Given the description of an element on the screen output the (x, y) to click on. 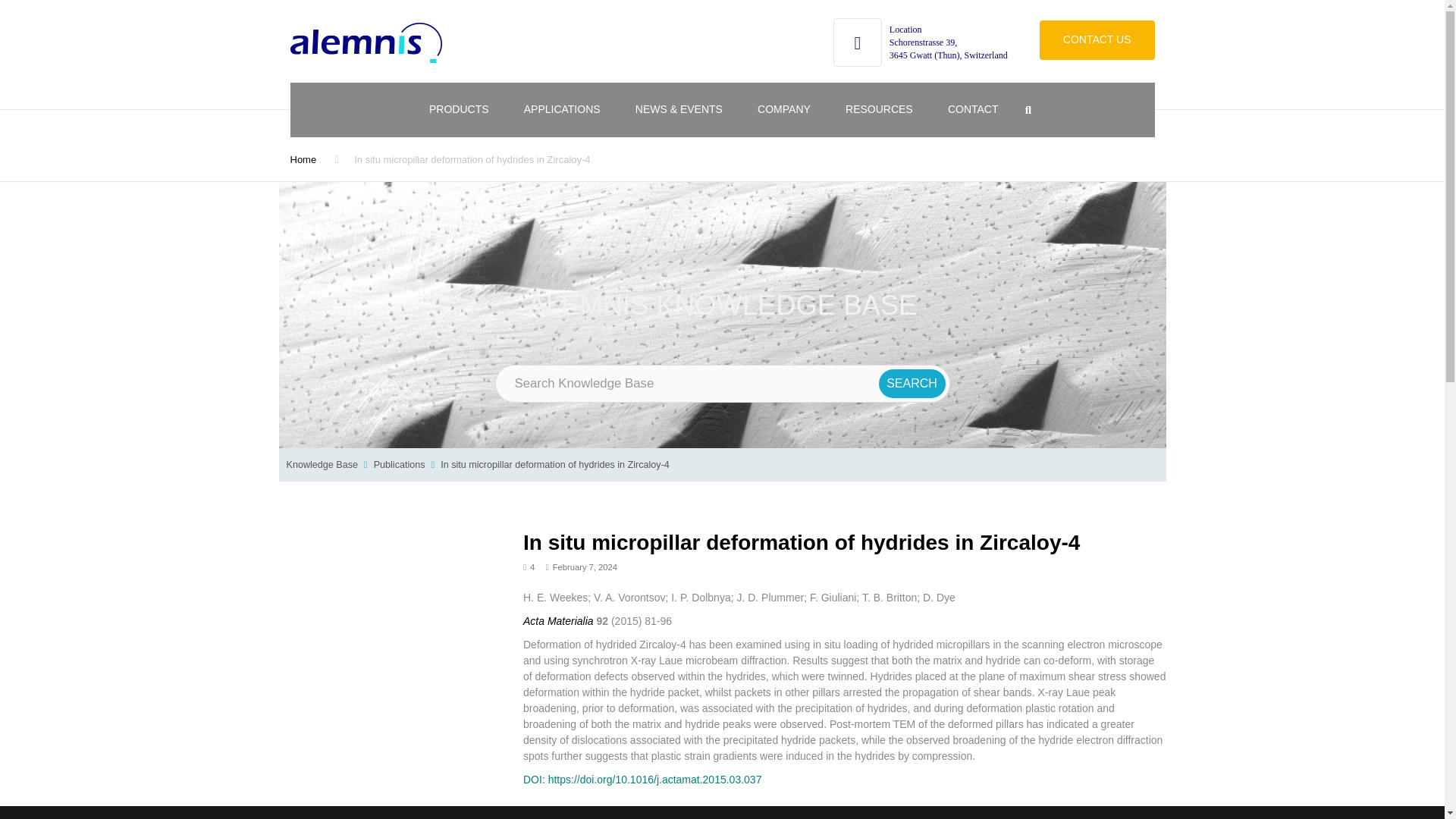
Search (910, 383)
PRODUCTS (459, 109)
Location (905, 29)
APPLICATIONS (561, 109)
CONTACT US (1096, 39)
